Given the description of an element on the screen output the (x, y) to click on. 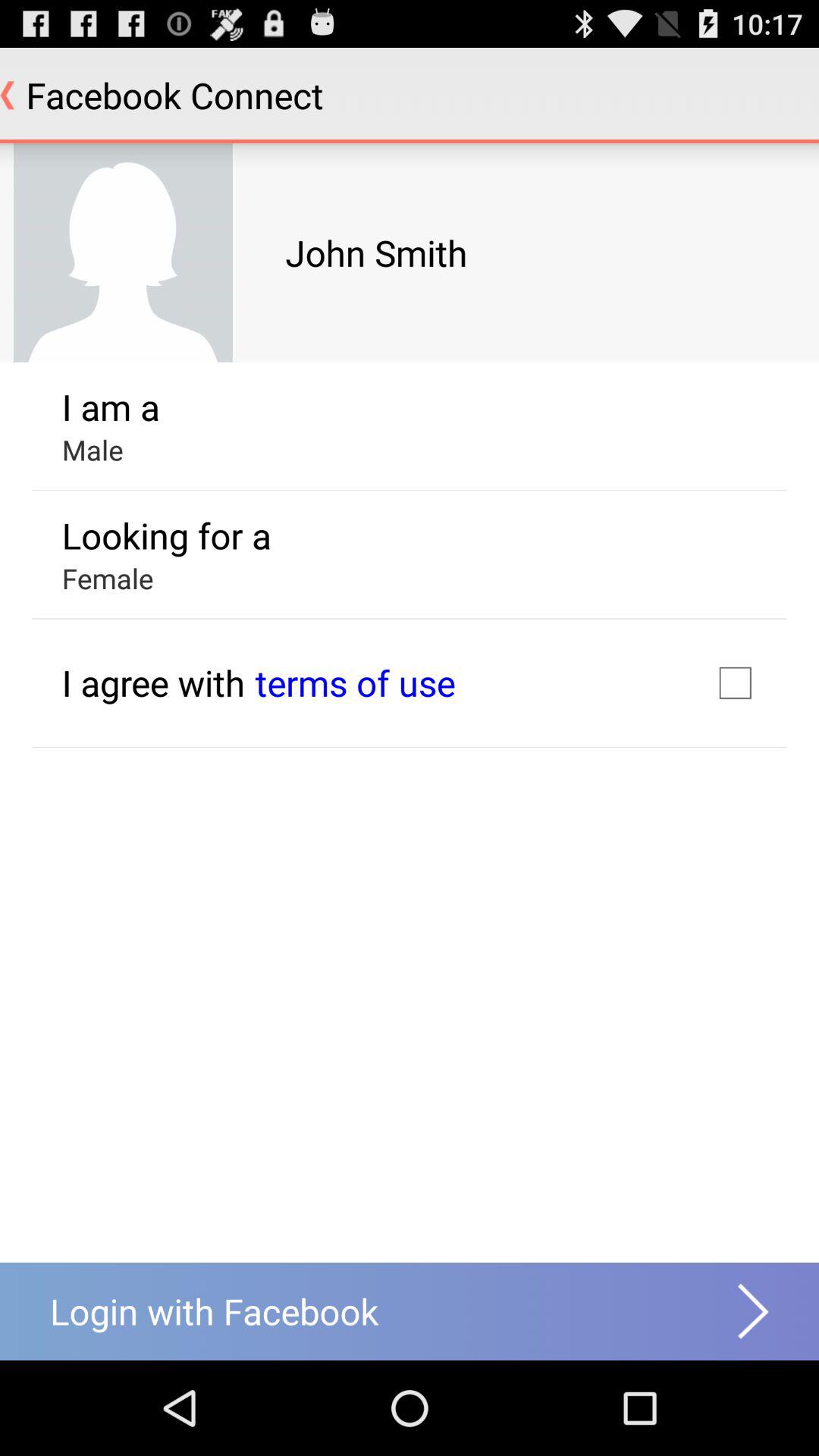
tap the icon above the looking for a (92, 449)
